Given the description of an element on the screen output the (x, y) to click on. 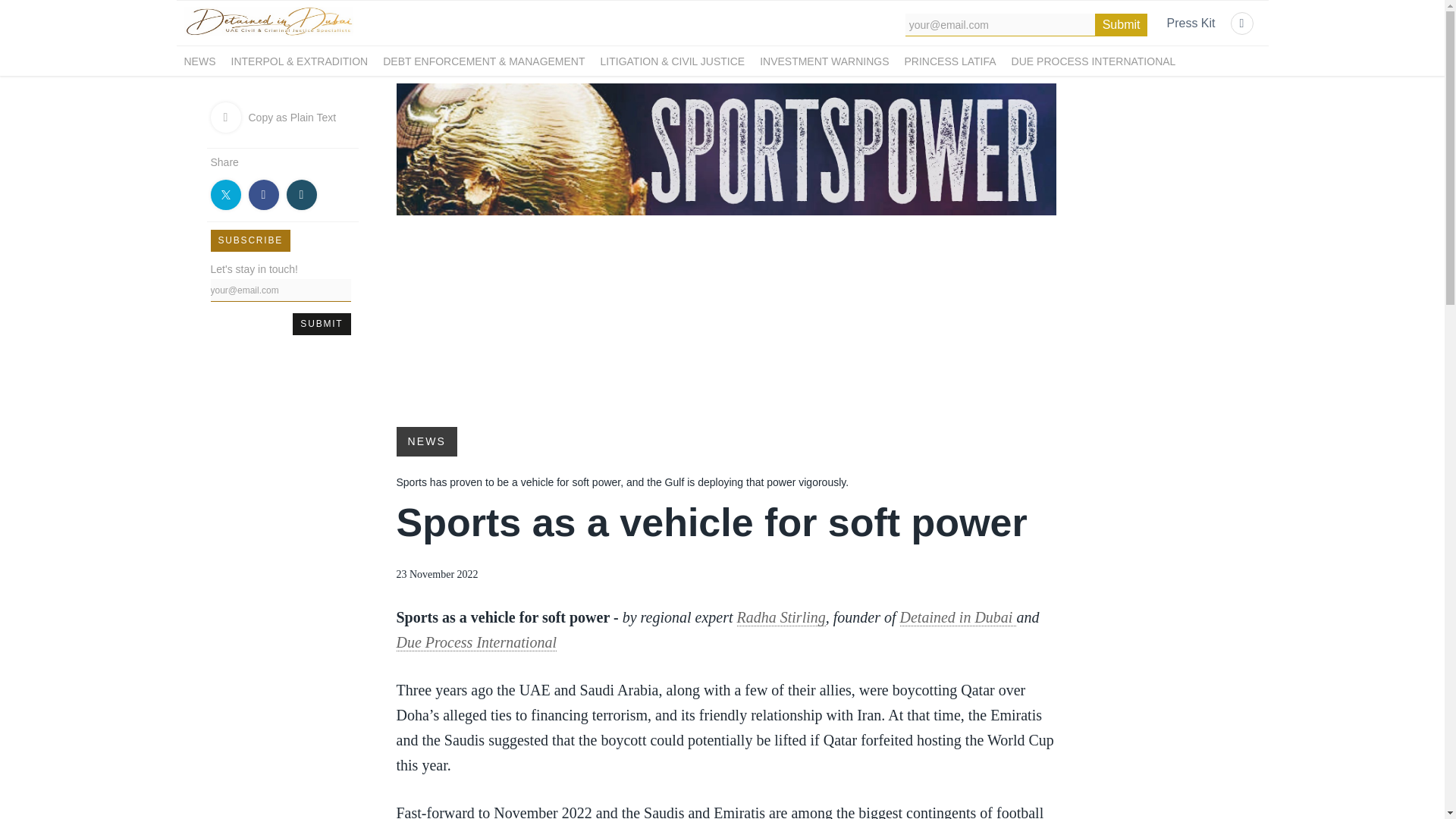
Press Kit (1190, 23)
PRINCESS LATIFA (949, 61)
Radha Stirling (780, 617)
NEWS (199, 61)
Detained in Dubai (957, 617)
Copy as Plain Text (282, 117)
DUE PROCESS INTERNATIONAL (1093, 61)
Submit (321, 323)
INVESTMENT WARNINGS (824, 61)
Submit (1121, 24)
Submit (1121, 24)
NEWS (426, 440)
Submit (321, 323)
Due Process International (476, 642)
